Given the description of an element on the screen output the (x, y) to click on. 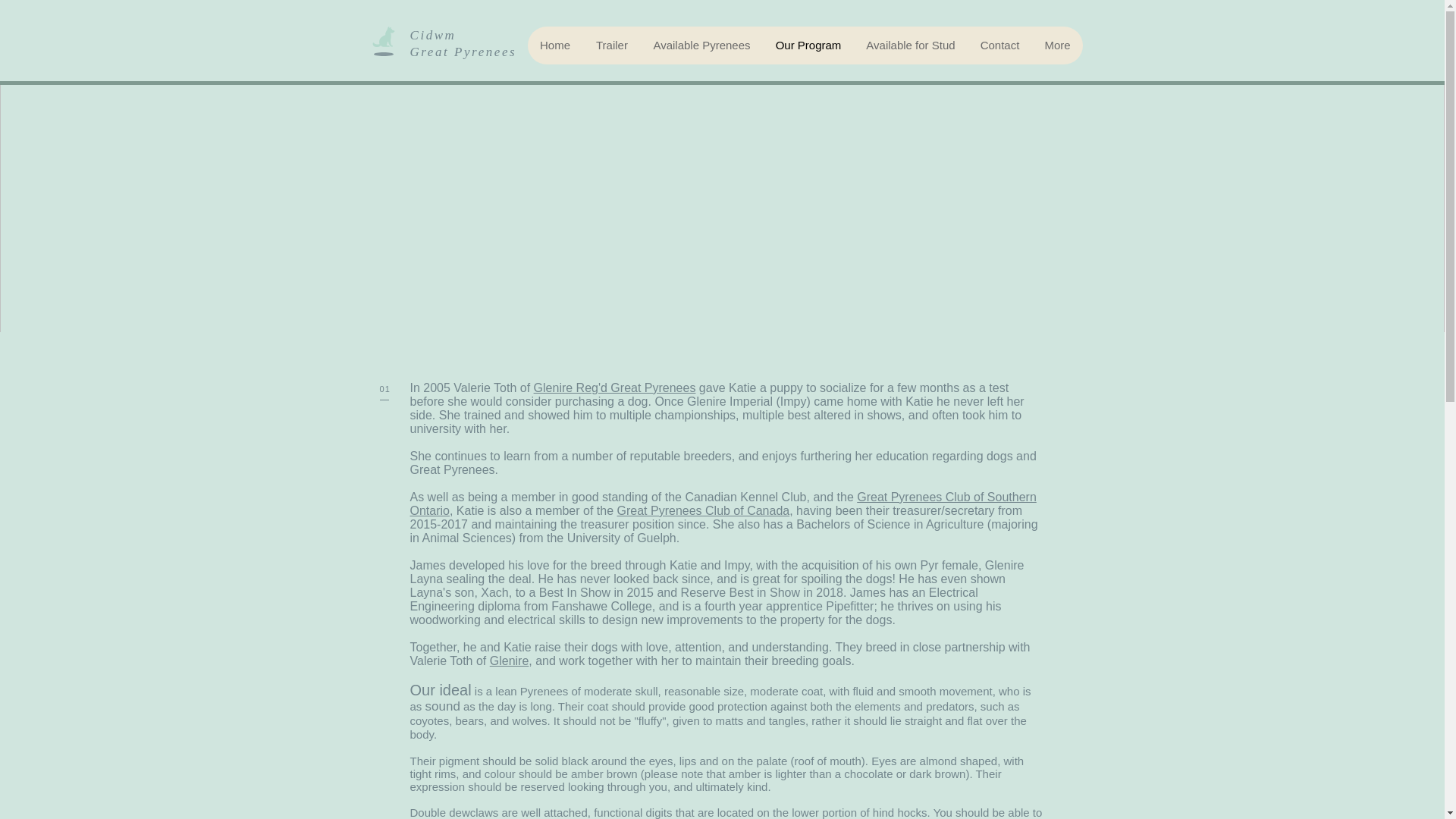
Available Pyrenees (700, 45)
Trailer (611, 45)
Glenire (509, 660)
Available for Stud (910, 45)
Our Program (807, 45)
Glenire Reg'd Great Pyrenees (614, 387)
Great Pyrenees Club of Southern Ontario (722, 503)
Great Pyrenees Club of Canada (703, 510)
Cidwm  (435, 34)
Home (555, 45)
